Given the description of an element on the screen output the (x, y) to click on. 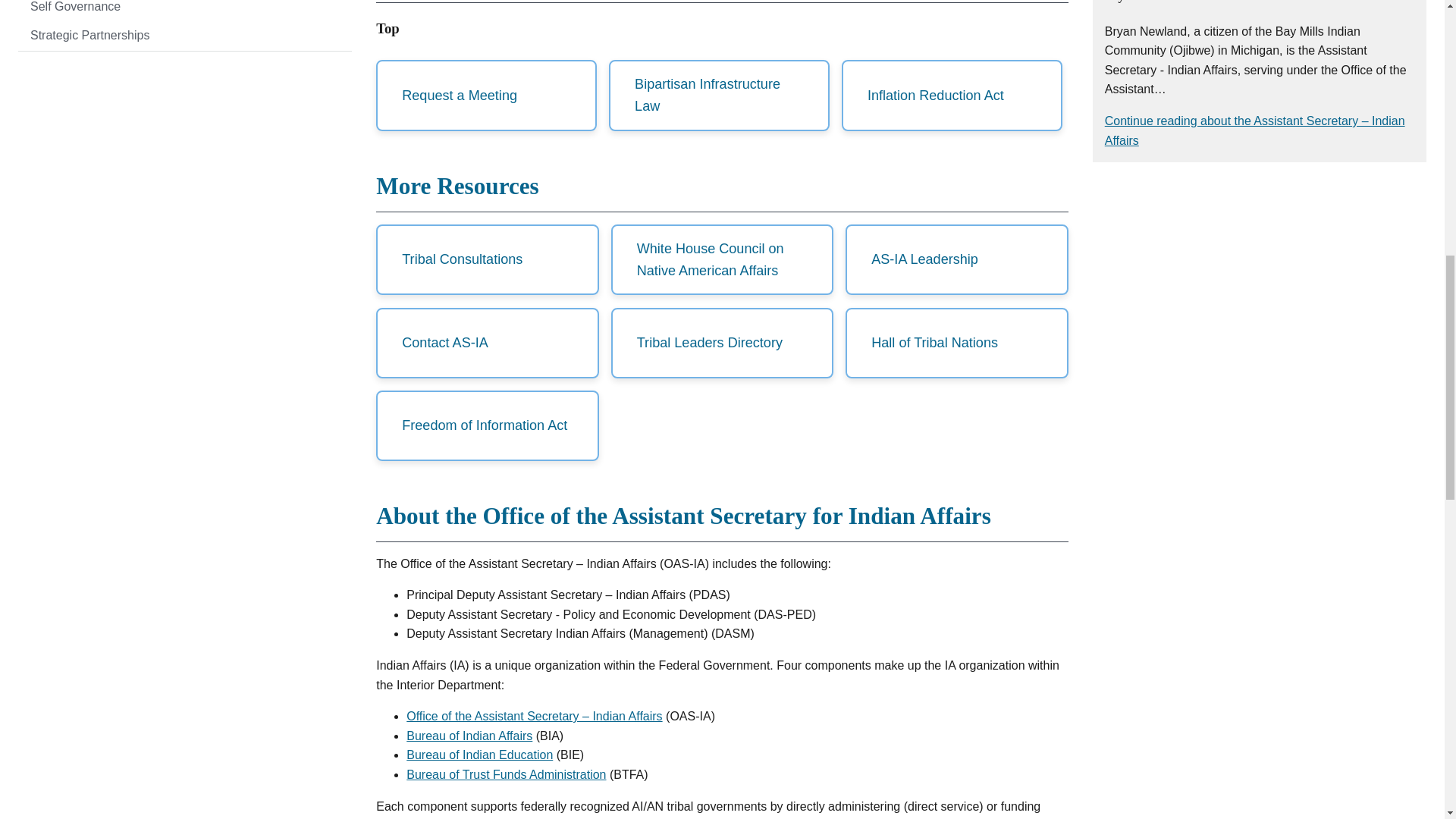
Bureau of Indian Education (479, 754)
Inflation Reduction Act (951, 95)
Contact AS-IA (486, 342)
Self Governance (184, 10)
Hall of Tribal Nations (956, 342)
Tribal Consultations (486, 259)
White House Council on Native American Affairs (721, 259)
Request a Meeting (485, 95)
Bureau of Indian Affairs (469, 735)
Bipartisan Infrastructure Law (718, 95)
